Given the description of an element on the screen output the (x, y) to click on. 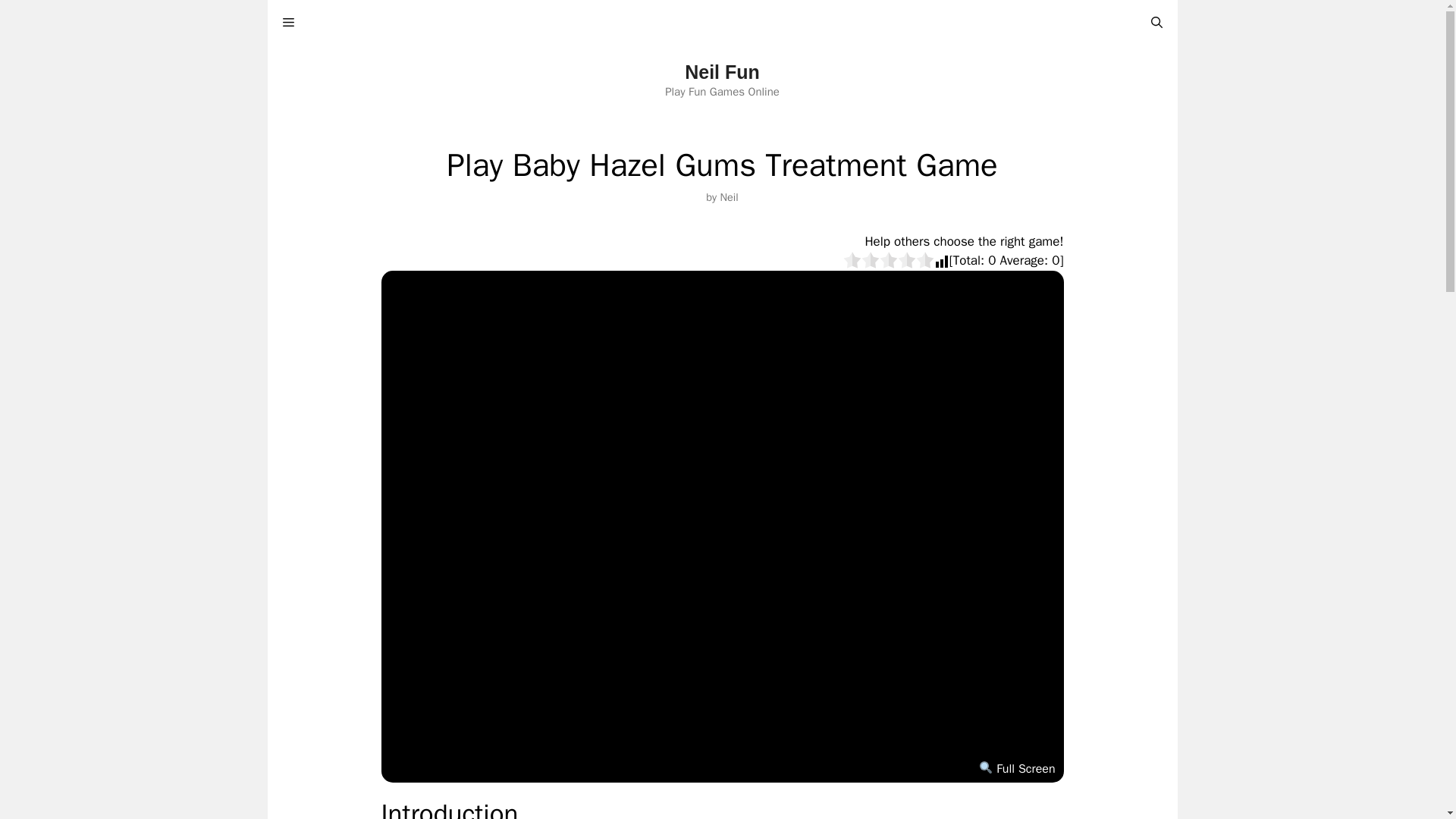
Neil (728, 196)
Full Screen (1016, 768)
View all posts by Neil (728, 196)
Neil Fun (722, 71)
